Given the description of an element on the screen output the (x, y) to click on. 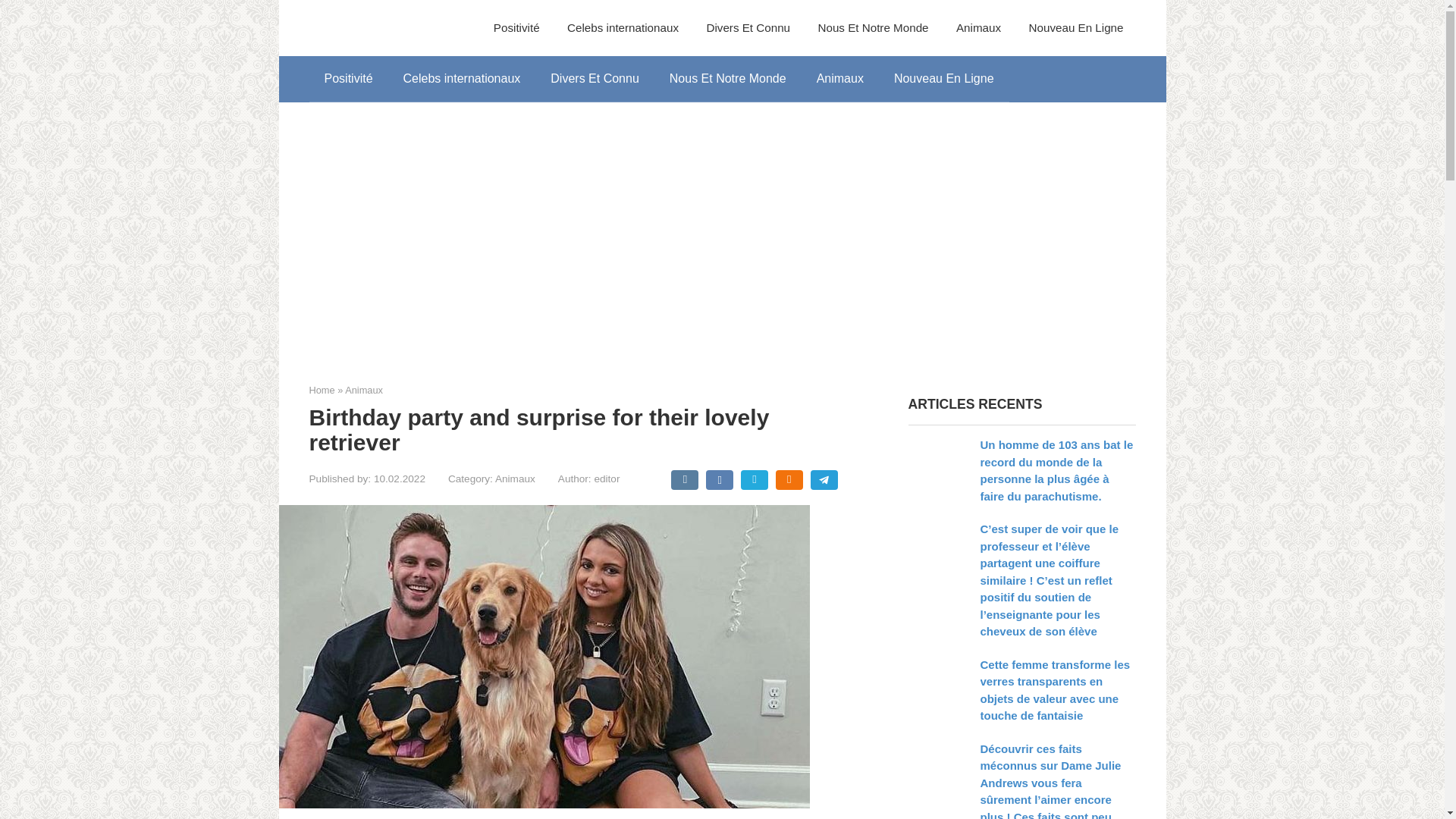
Nous Et Notre Monde (872, 28)
Animaux (840, 78)
Celebs internationaux (622, 28)
Nouveau En Ligne (944, 78)
Divers Et Connu (594, 78)
Animaux (363, 389)
Animaux (515, 478)
Nous Et Notre Monde (727, 78)
Home (321, 389)
Animaux (978, 28)
